Given the description of an element on the screen output the (x, y) to click on. 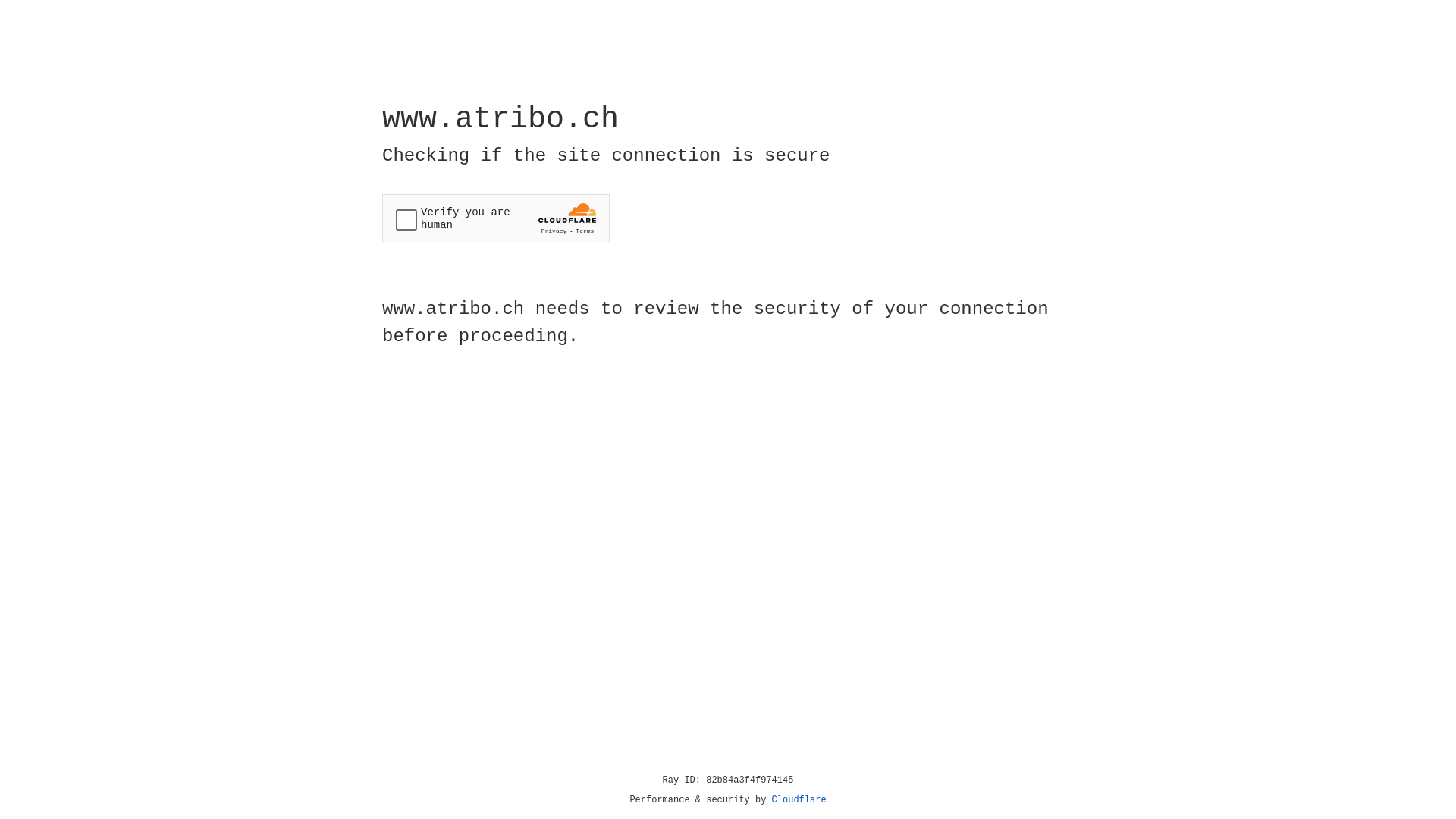
Widget containing a Cloudflare security challenge Element type: hover (495, 218)
Cloudflare Element type: text (798, 799)
